Given the description of an element on the screen output the (x, y) to click on. 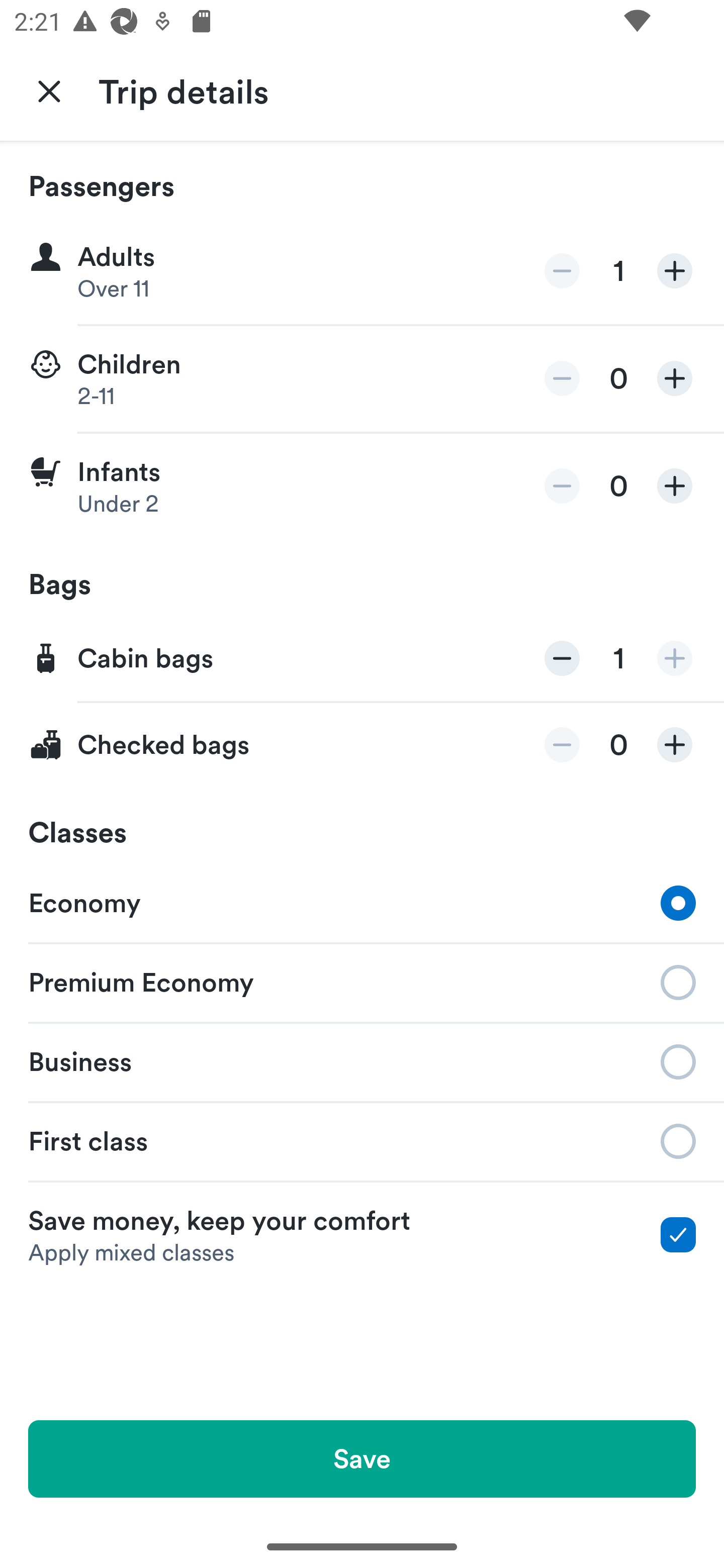
Navigate up (49, 90)
Remove 1 Add Adults Over 11 (362, 271)
Remove (561, 270)
Add (674, 270)
Remove 0 Add Children 2-11 (362, 379)
Remove (561, 377)
Add (674, 377)
Remove 0 Add Infants Under 2 (362, 485)
Remove (561, 485)
Add (674, 485)
Remove 1 Add Cabin bags (362, 659)
Remove (561, 658)
Add (674, 658)
Remove 0 Add Checked bags (362, 744)
Remove (561, 744)
Add (674, 744)
Premium Economy (362, 980)
Business (362, 1060)
First class (362, 1141)
Save (361, 1458)
